Given the description of an element on the screen output the (x, y) to click on. 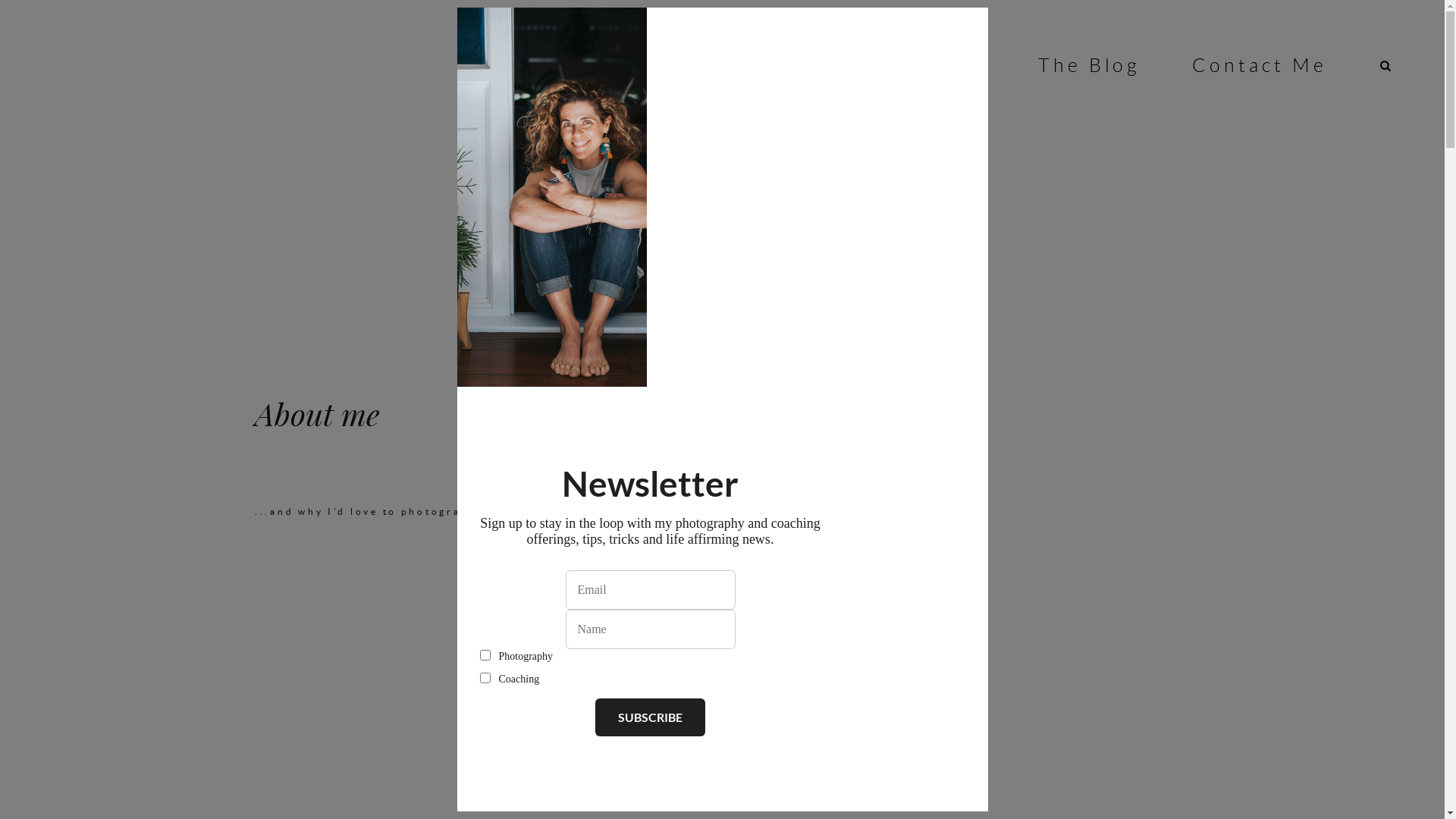
Contact Me Element type: text (1259, 64)
Your Session Element type: text (644, 64)
Jess Element type: text (493, 64)
Creative Coaching Element type: text (878, 64)
The Blog Element type: text (1089, 64)
